Given the description of an element on the screen output the (x, y) to click on. 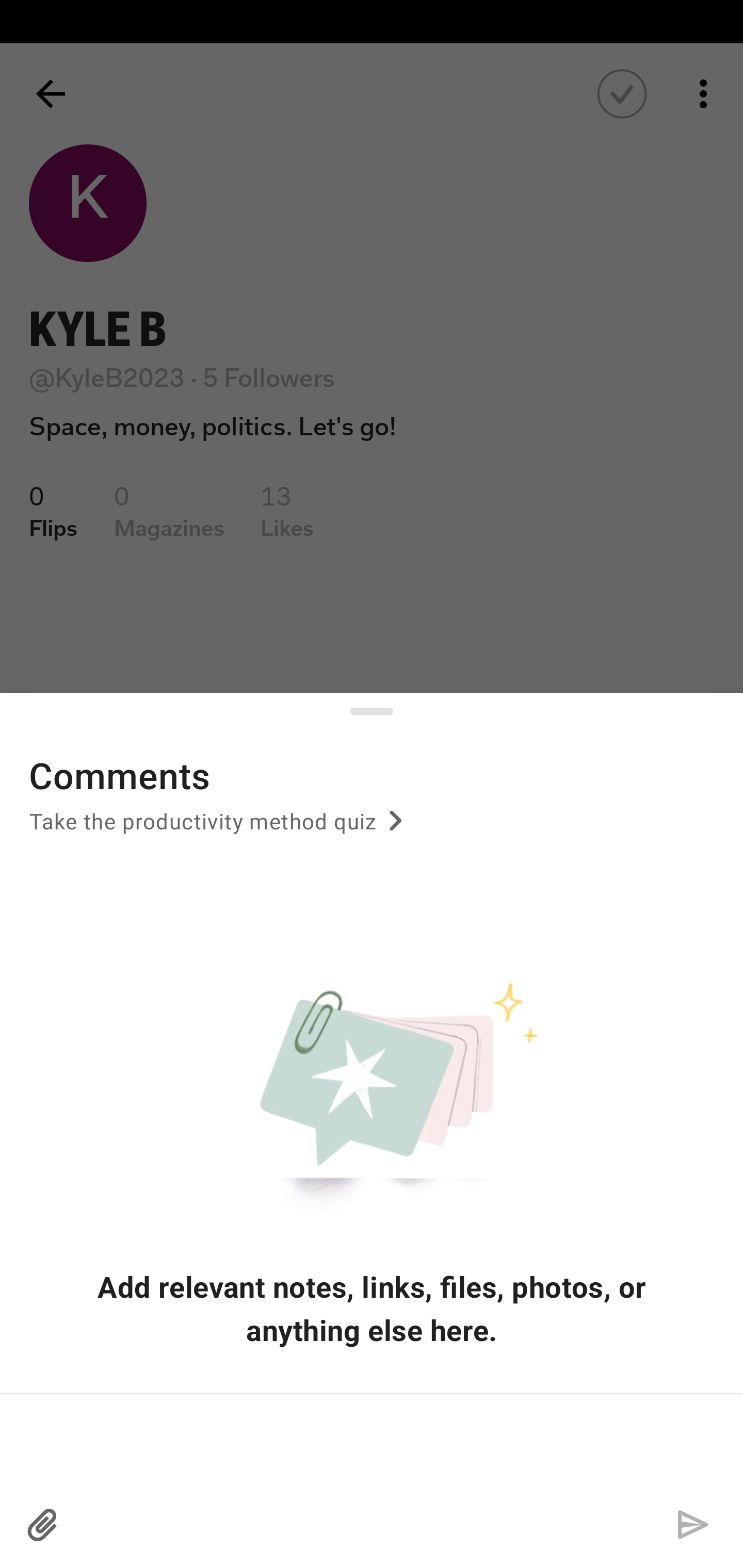
Take the productivity method quiz (218, 828)
Attachment (43, 1524)
Submit (692, 1524)
